Given the description of an element on the screen output the (x, y) to click on. 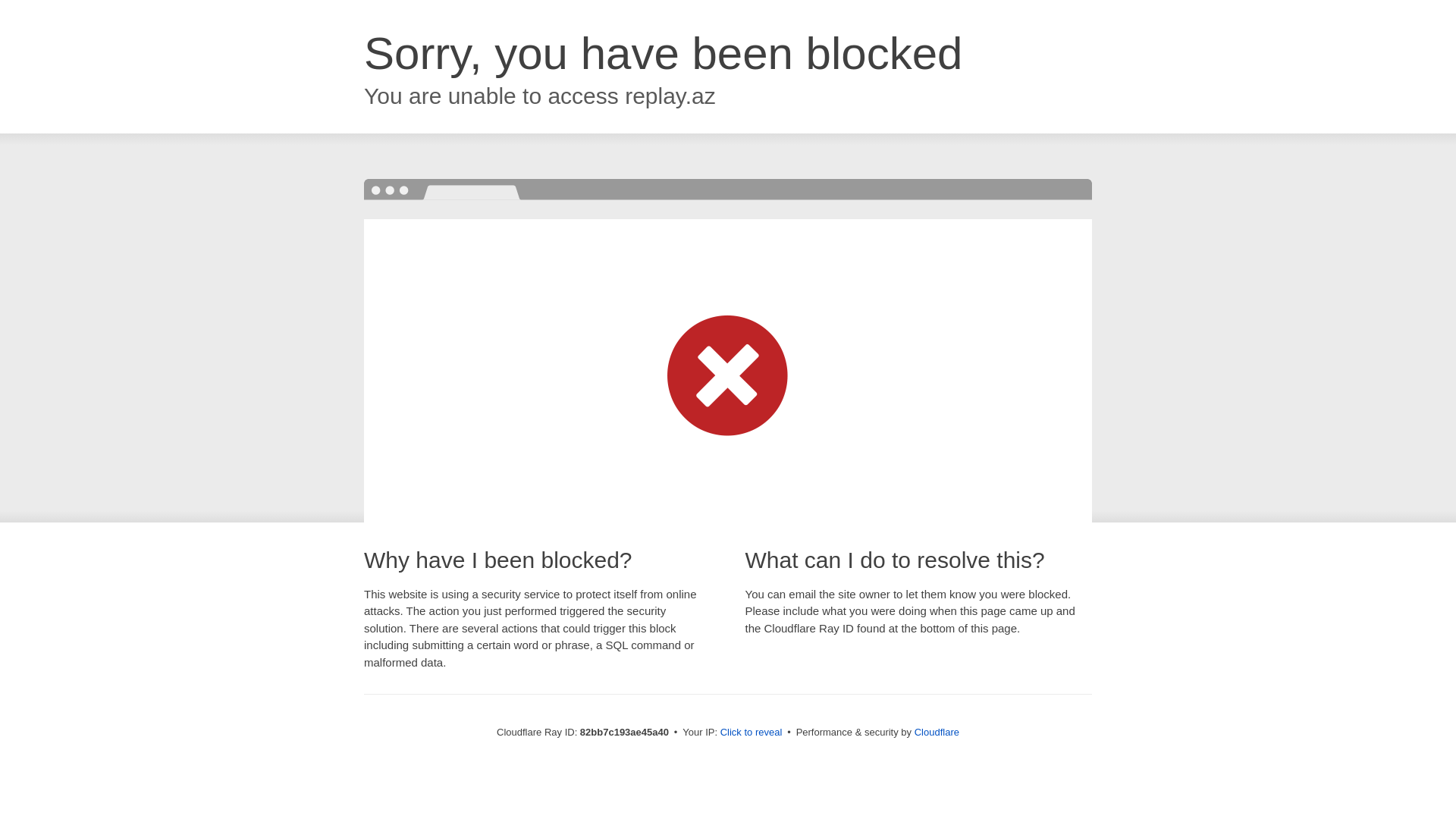
Click to reveal Element type: text (751, 732)
Cloudflare Element type: text (936, 731)
